Given the description of an element on the screen output the (x, y) to click on. 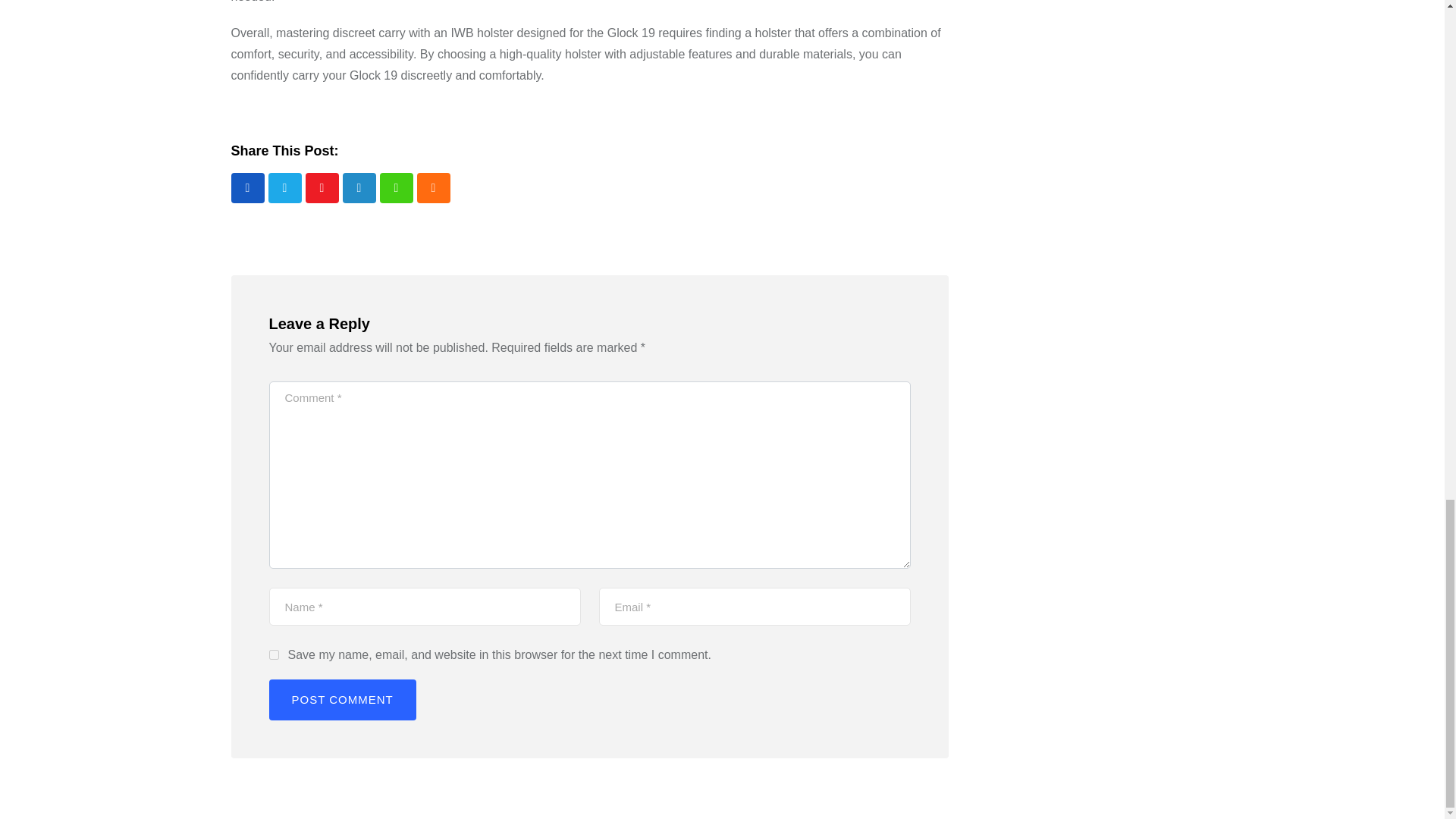
Post Comment (340, 699)
yes (272, 655)
Post Comment (340, 699)
